Given the description of an element on the screen output the (x, y) to click on. 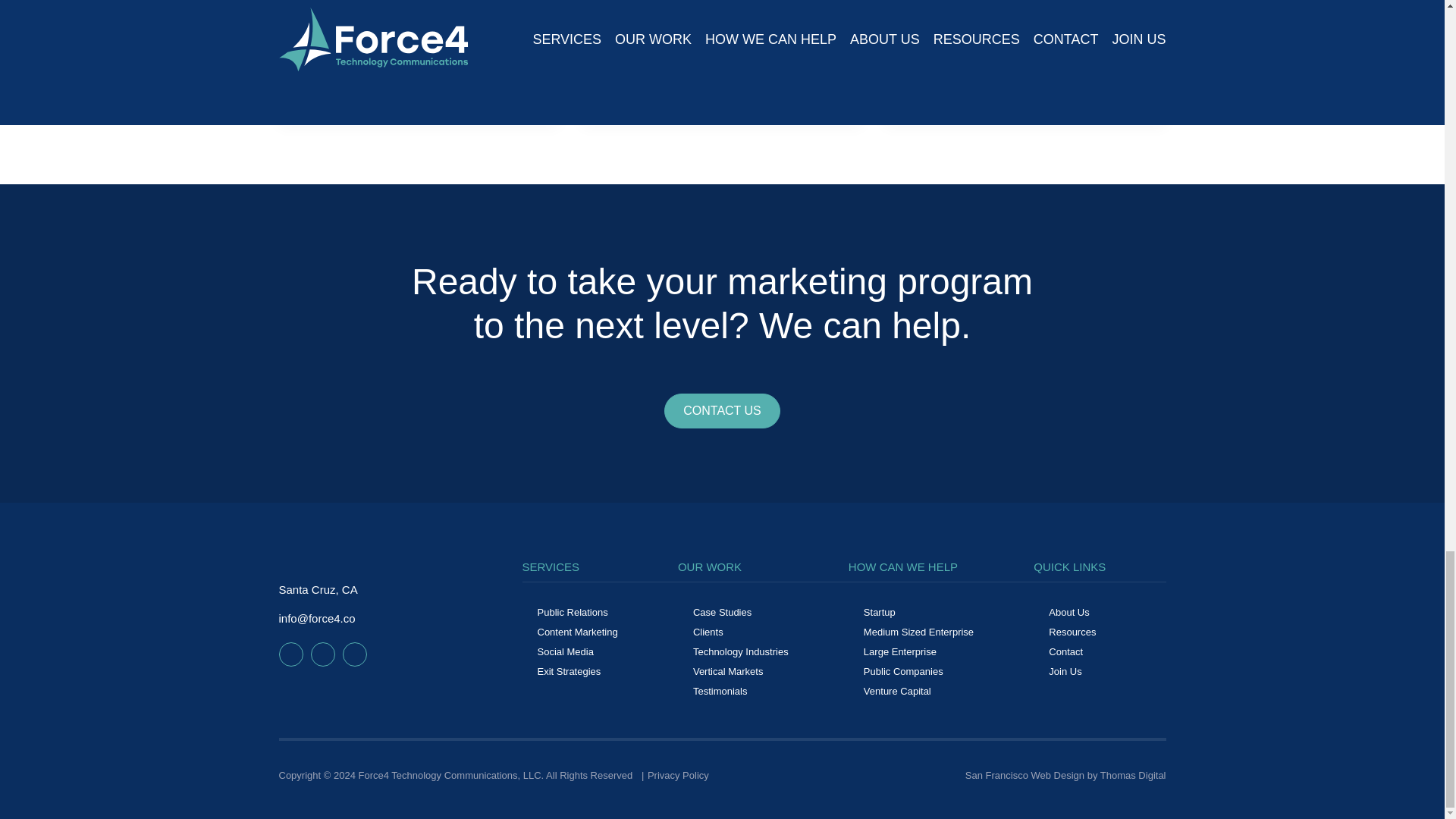
Case Studies (722, 612)
Public Relations (572, 612)
Clients (708, 632)
Social Media (564, 651)
Exit Strategies (568, 671)
Content Marketing (577, 632)
CONTACT US (721, 410)
Technology Industries (741, 651)
